Given the description of an element on the screen output the (x, y) to click on. 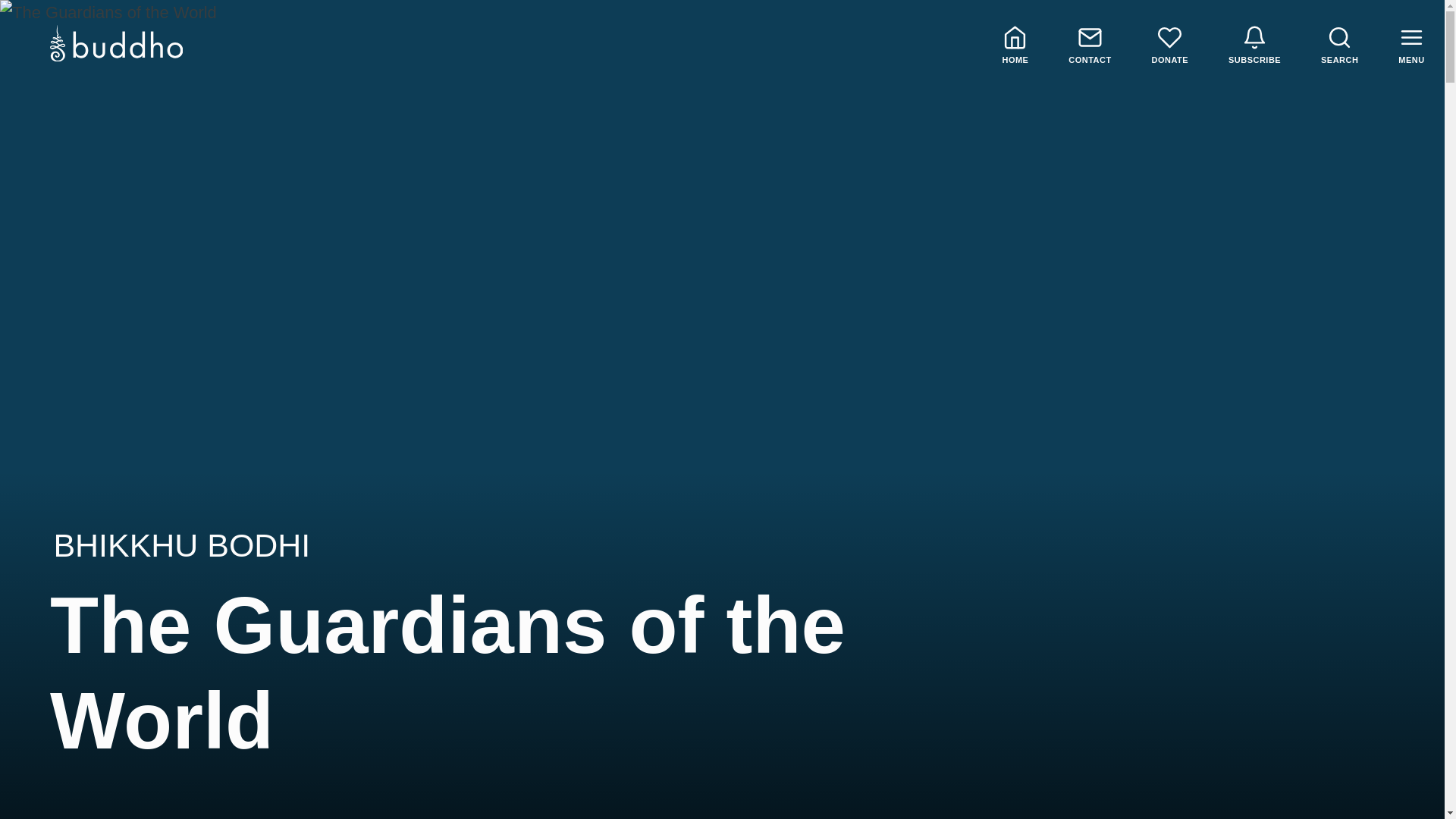
DONATE (1169, 45)
CONTACT (1089, 45)
SUBSCRIBE (1254, 45)
HOME (1014, 45)
Search (1339, 45)
Subscribe to our Newsletter (1254, 45)
SEARCH (1339, 45)
